Given the description of an element on the screen output the (x, y) to click on. 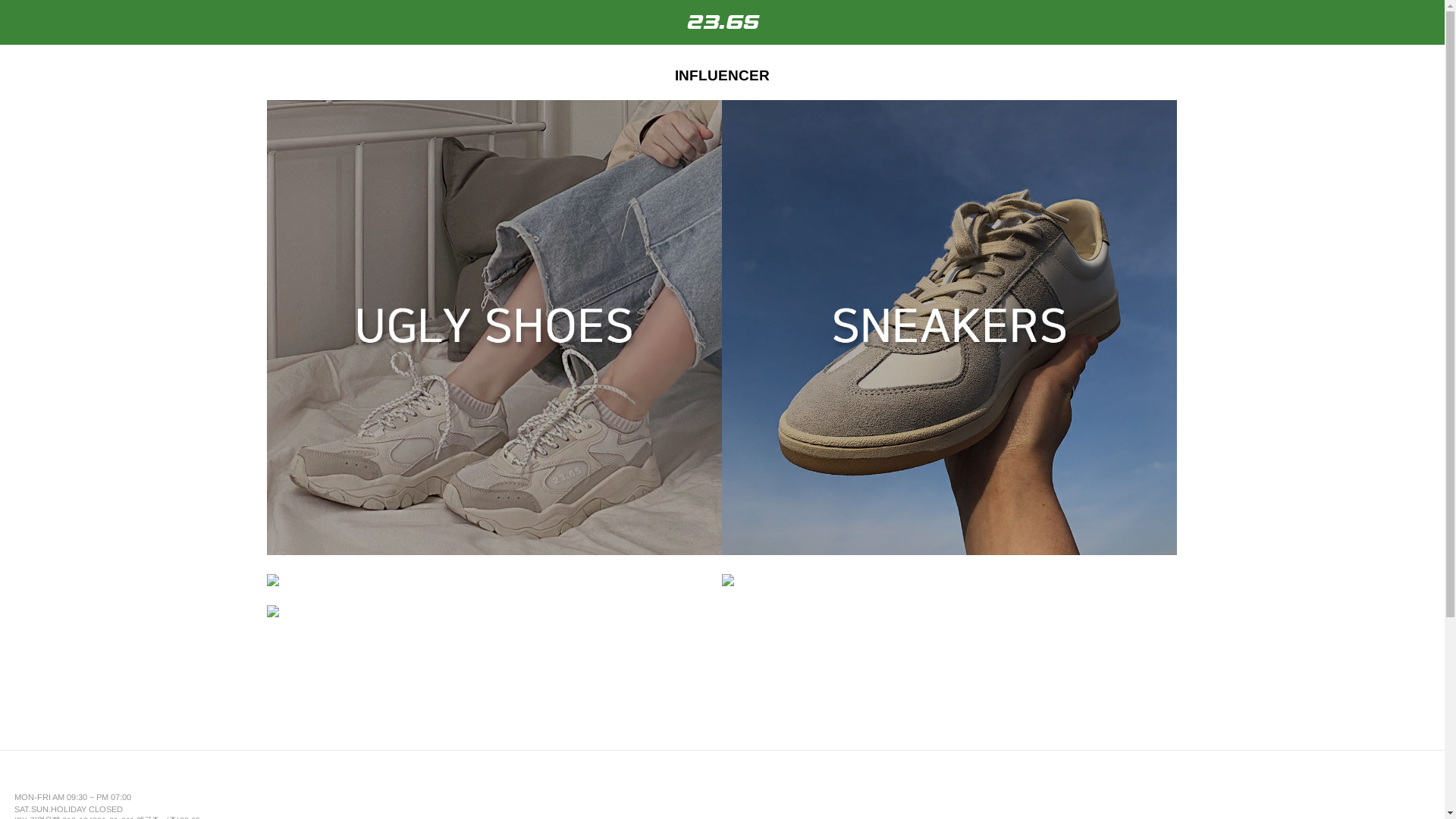
23.65 Element type: text (721, 21)
